Given the description of an element on the screen output the (x, y) to click on. 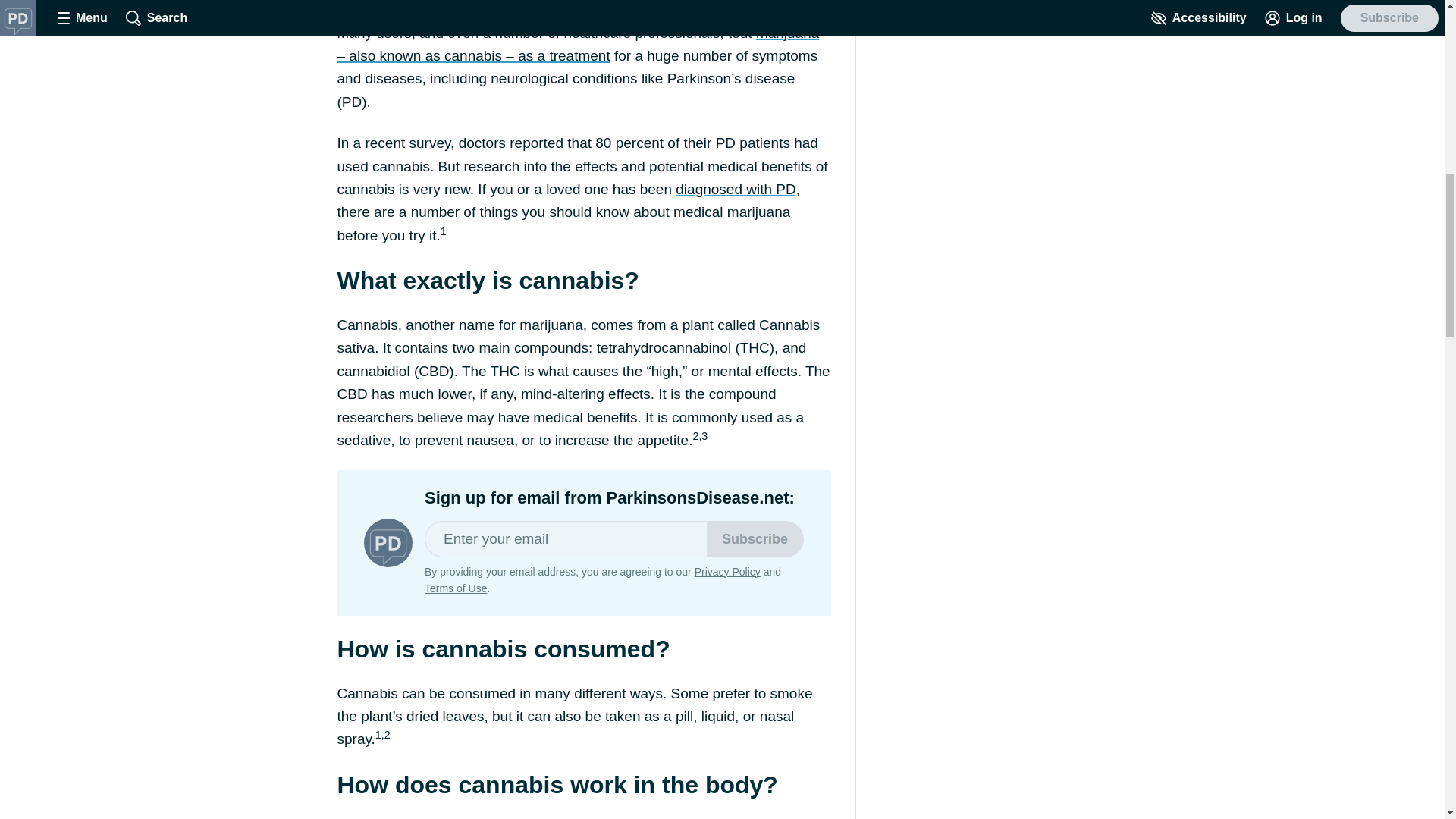
Privacy Policy (727, 571)
diagnosed with PD (734, 188)
Terms of Use (455, 588)
Subscribe (754, 538)
